Given the description of an element on the screen output the (x, y) to click on. 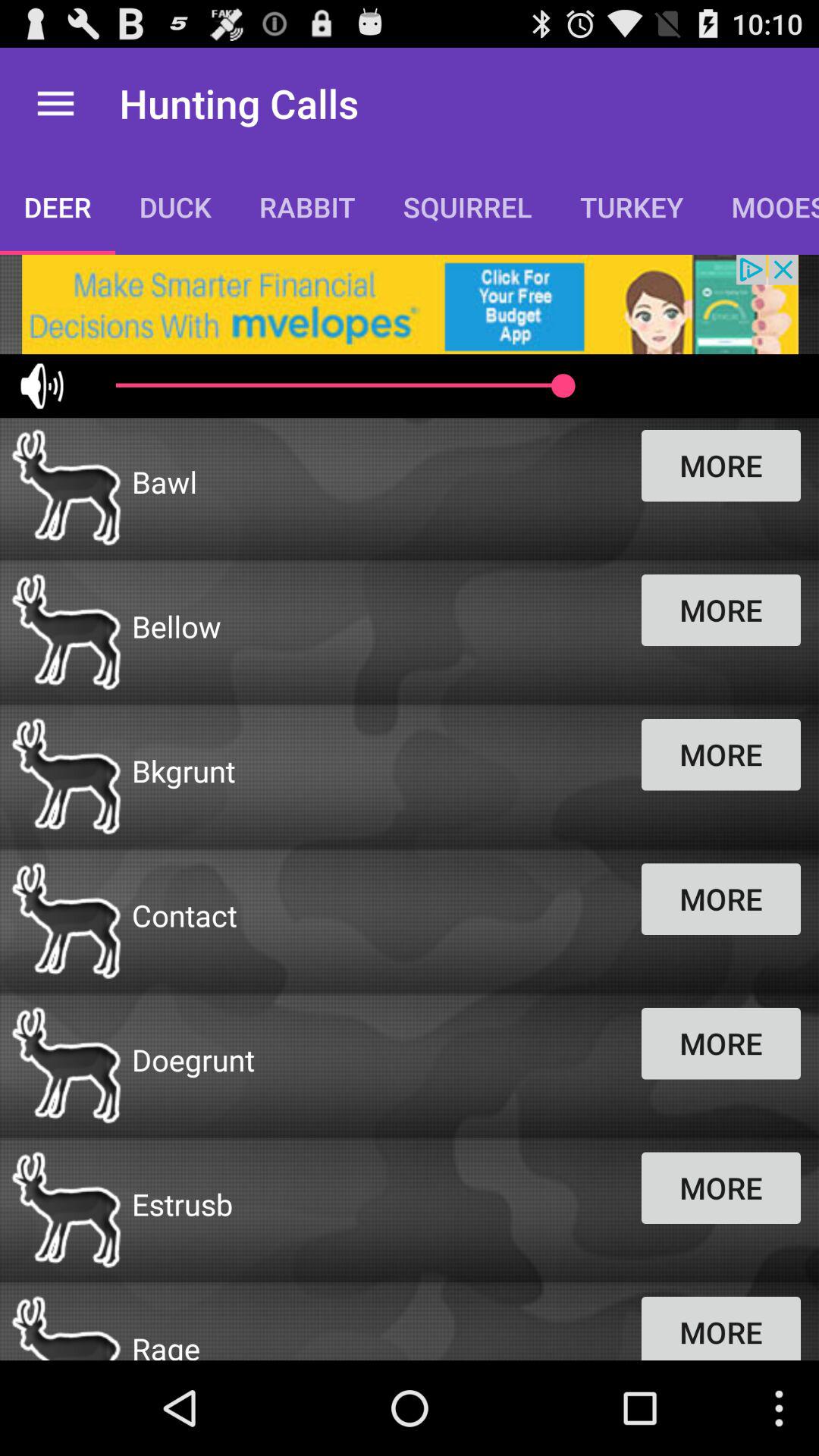
it is notification key (409, 304)
